Given the description of an element on the screen output the (x, y) to click on. 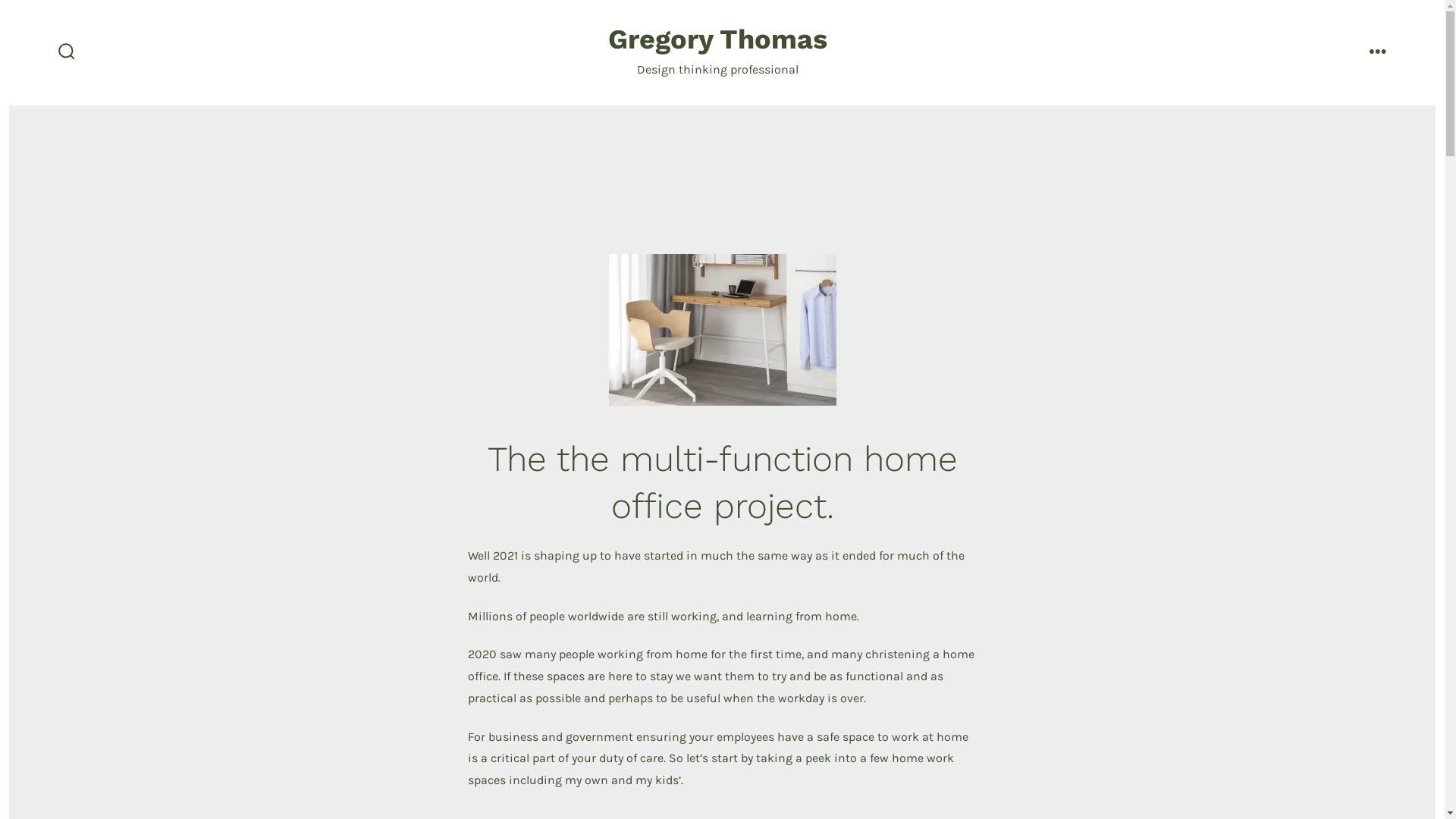
Gregory Thomas Element type: text (717, 40)
search toggle Element type: text (66, 52)
menu Element type: text (1377, 52)
